Given the description of an element on the screen output the (x, y) to click on. 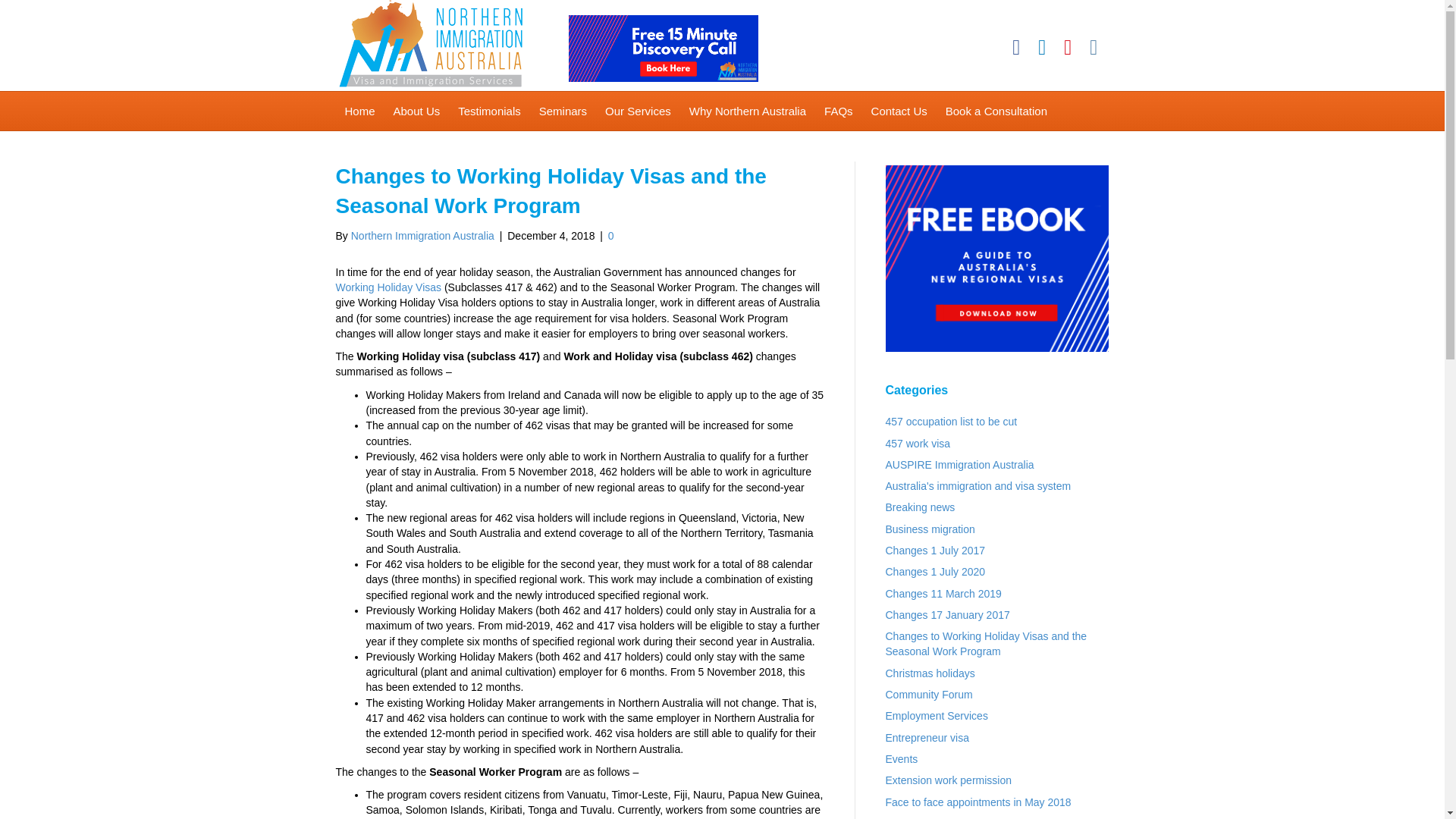
Northern Immigration Australia (422, 235)
Our Services (637, 110)
Home (359, 110)
Book a Consultation (996, 110)
Seminars (562, 110)
Contact Us (898, 110)
Testimonials (488, 110)
FAQs (838, 110)
Working Holiday Visas (387, 287)
About Us (416, 110)
Why Northern Australia (747, 110)
